Given the description of an element on the screen output the (x, y) to click on. 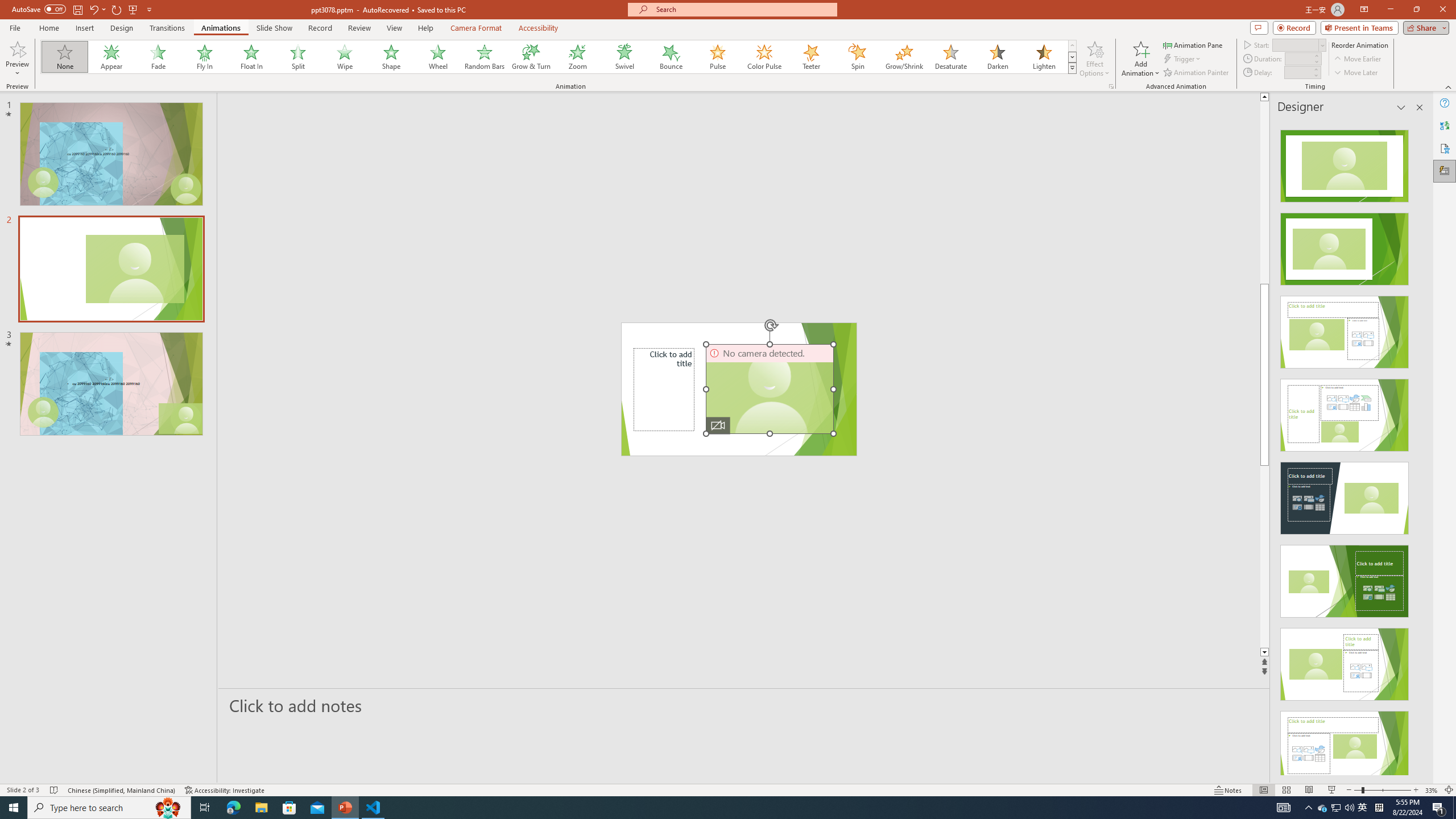
Teeter (810, 56)
None (65, 56)
Lighten (1043, 56)
